Given the description of an element on the screen output the (x, y) to click on. 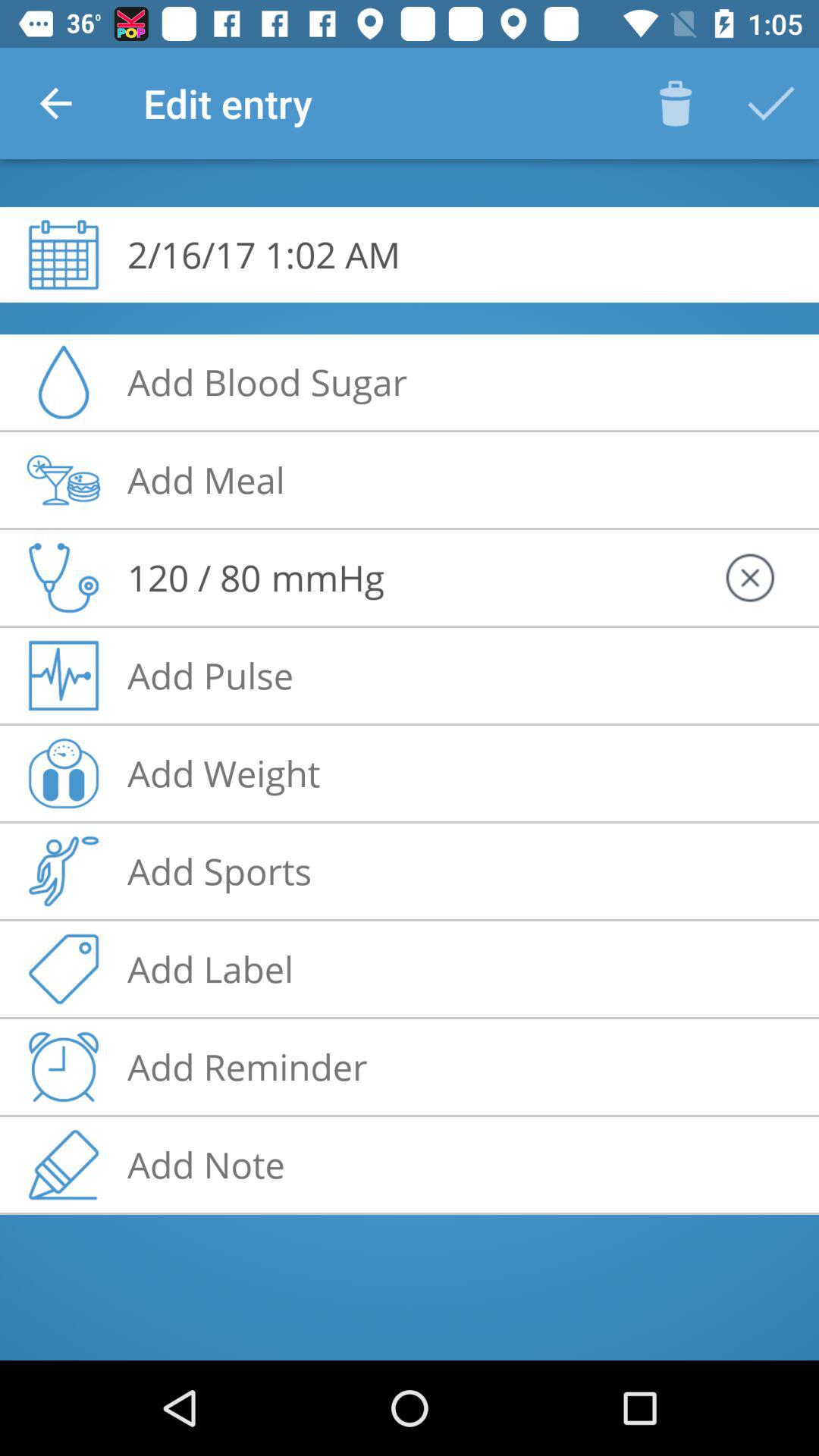
press the item next to the mmhg icon (194, 577)
